Given the description of an element on the screen output the (x, y) to click on. 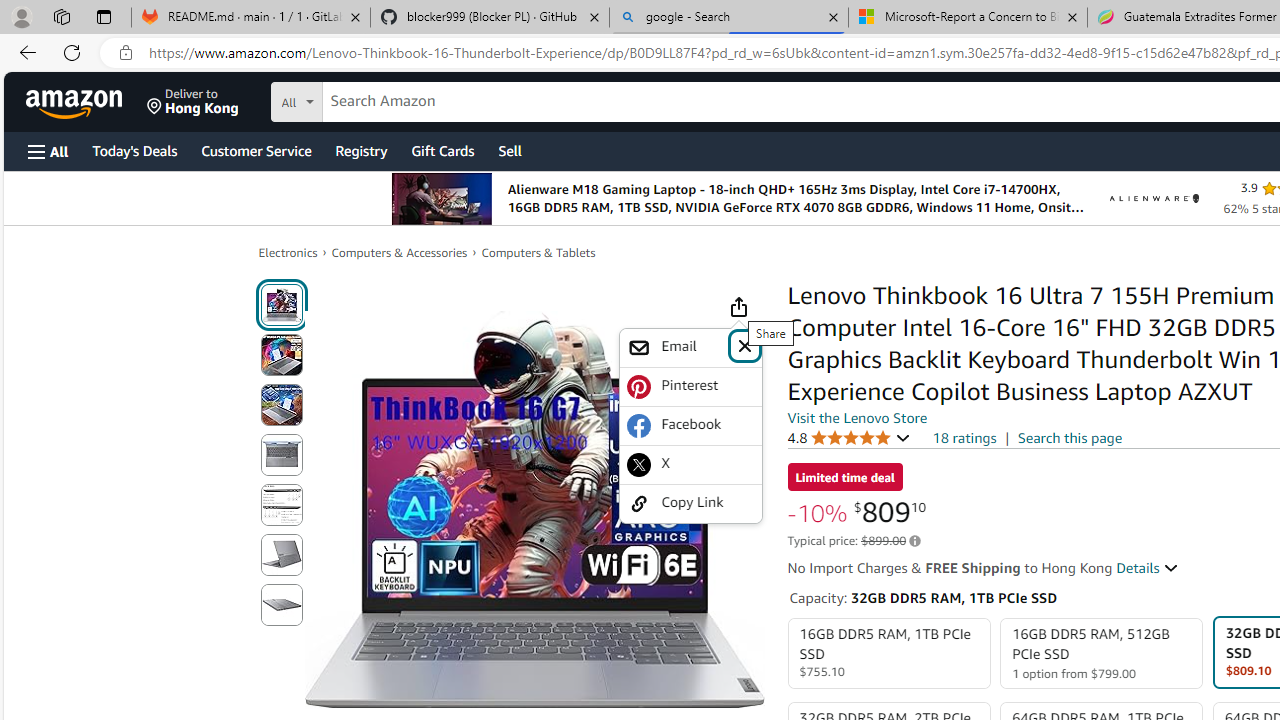
Pinterest (690, 386)
Copy Link (690, 502)
Computers & Tablets (538, 251)
Customer Service (256, 150)
Electronics (287, 251)
18 ratings (964, 438)
Email (690, 347)
Registry (360, 150)
Share (738, 307)
Email (676, 347)
Open Menu (48, 151)
Facebook (690, 425)
X (690, 464)
